Given the description of an element on the screen output the (x, y) to click on. 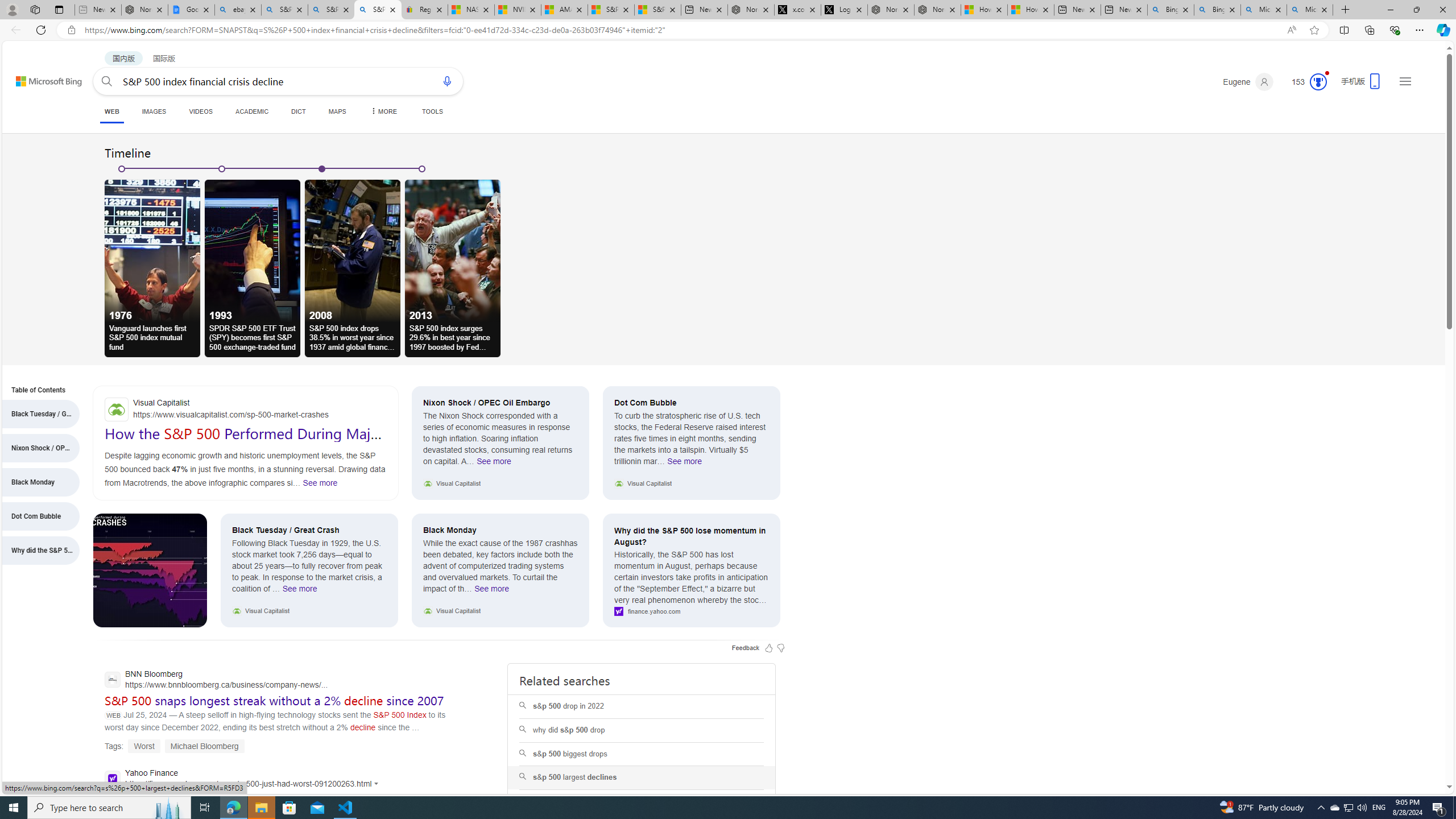
Log in to X / X (844, 9)
Search more (1423, 753)
VIDEOS (201, 111)
Actions for this site (377, 783)
Register: Create a personal eBay account (424, 9)
s&p 500 index historical drops (641, 802)
AutomationID: mfa_root (1406, 752)
Search using voice (446, 80)
IMAGES (153, 111)
